Given the description of an element on the screen output the (x, y) to click on. 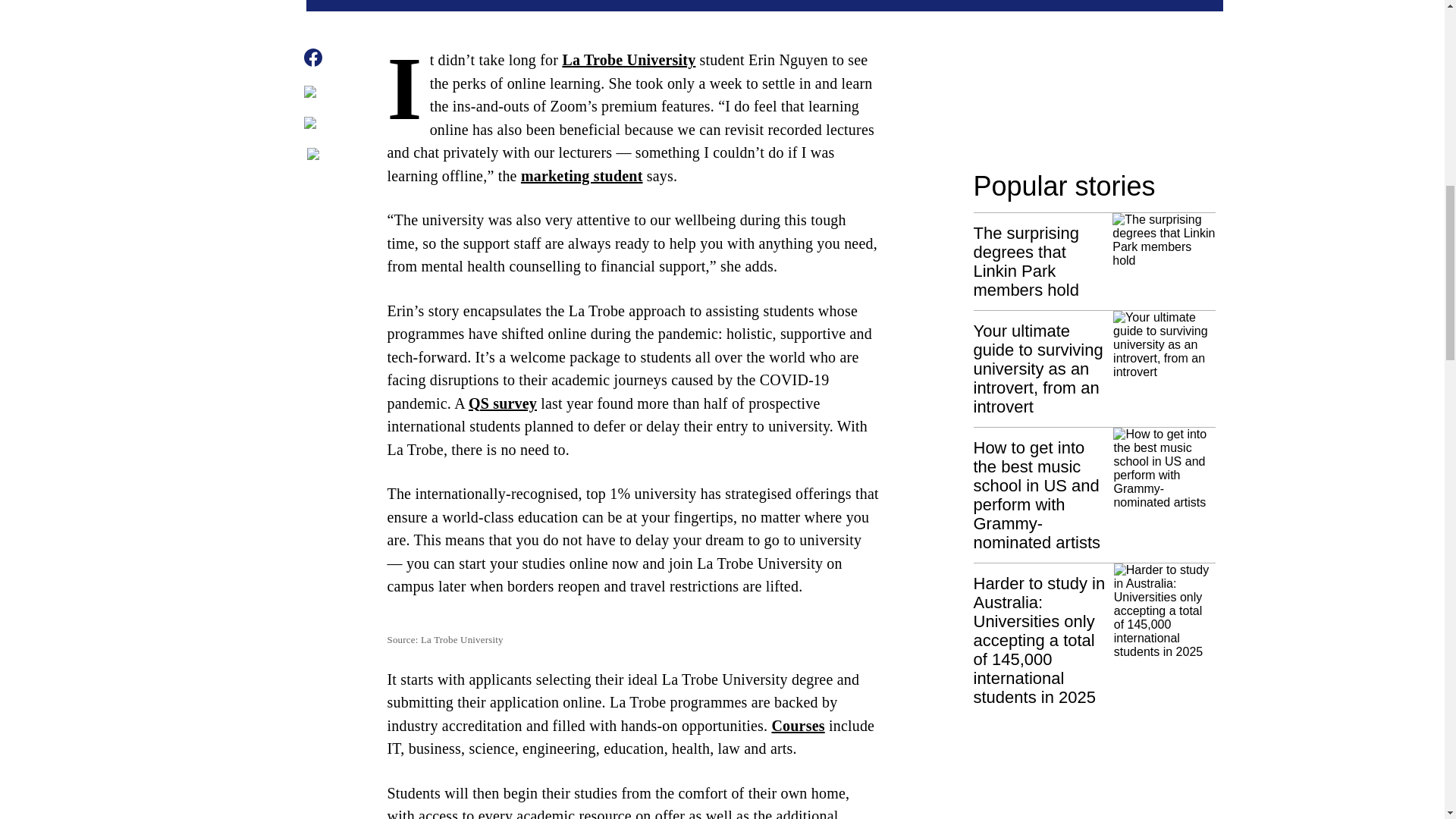
Courses (797, 725)
La Trobe University (628, 59)
marketing student (582, 175)
QS survey (502, 402)
